Given the description of an element on the screen output the (x, y) to click on. 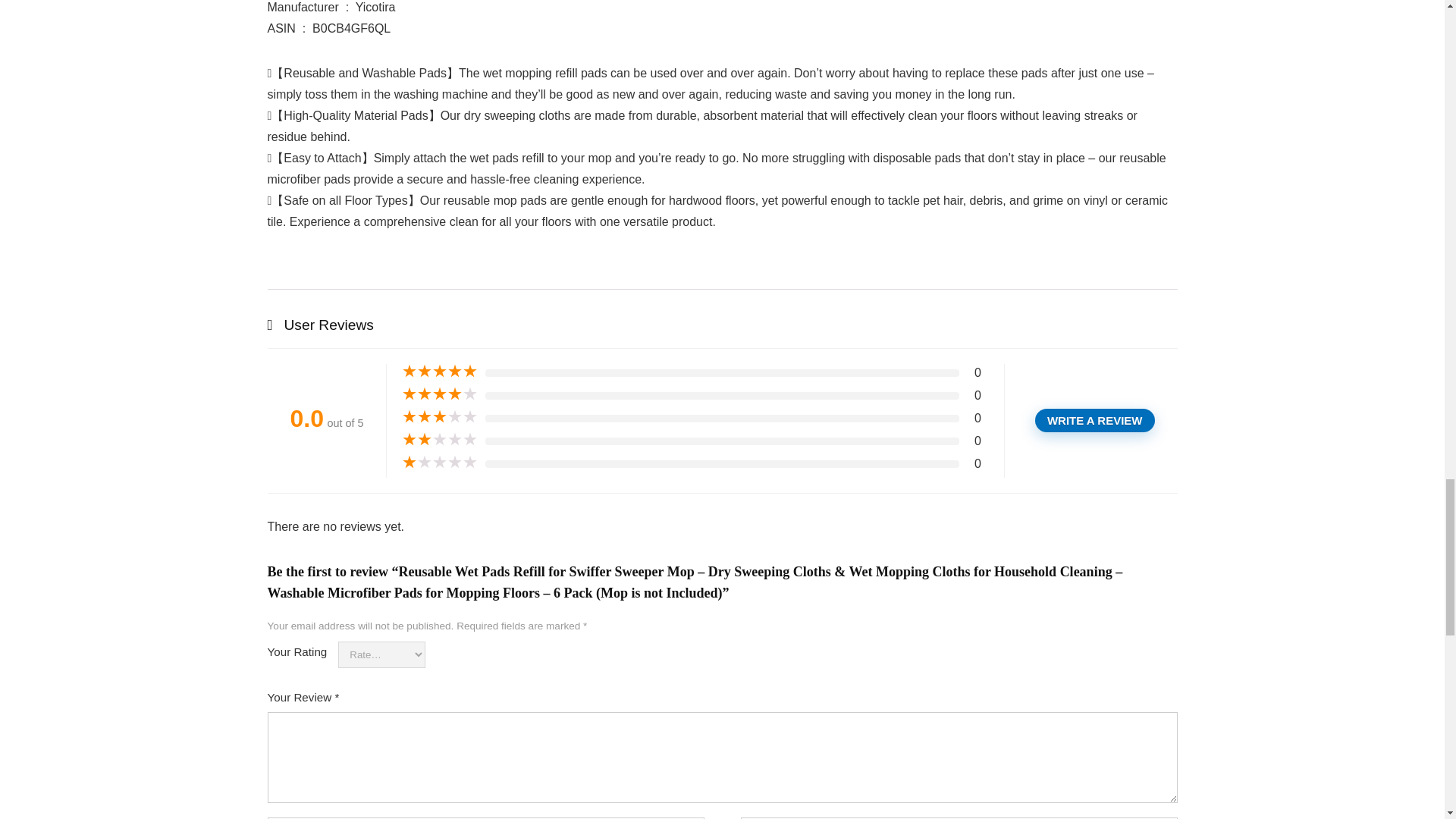
Rated 5 out of 5 (439, 371)
Rated 4 out of 5 (439, 394)
Rated 2 out of 5 (439, 439)
Rated 1 out of 5 (439, 462)
WRITE A REVIEW (1094, 420)
Rated 3 out of 5 (439, 417)
